Given the description of an element on the screen output the (x, y) to click on. 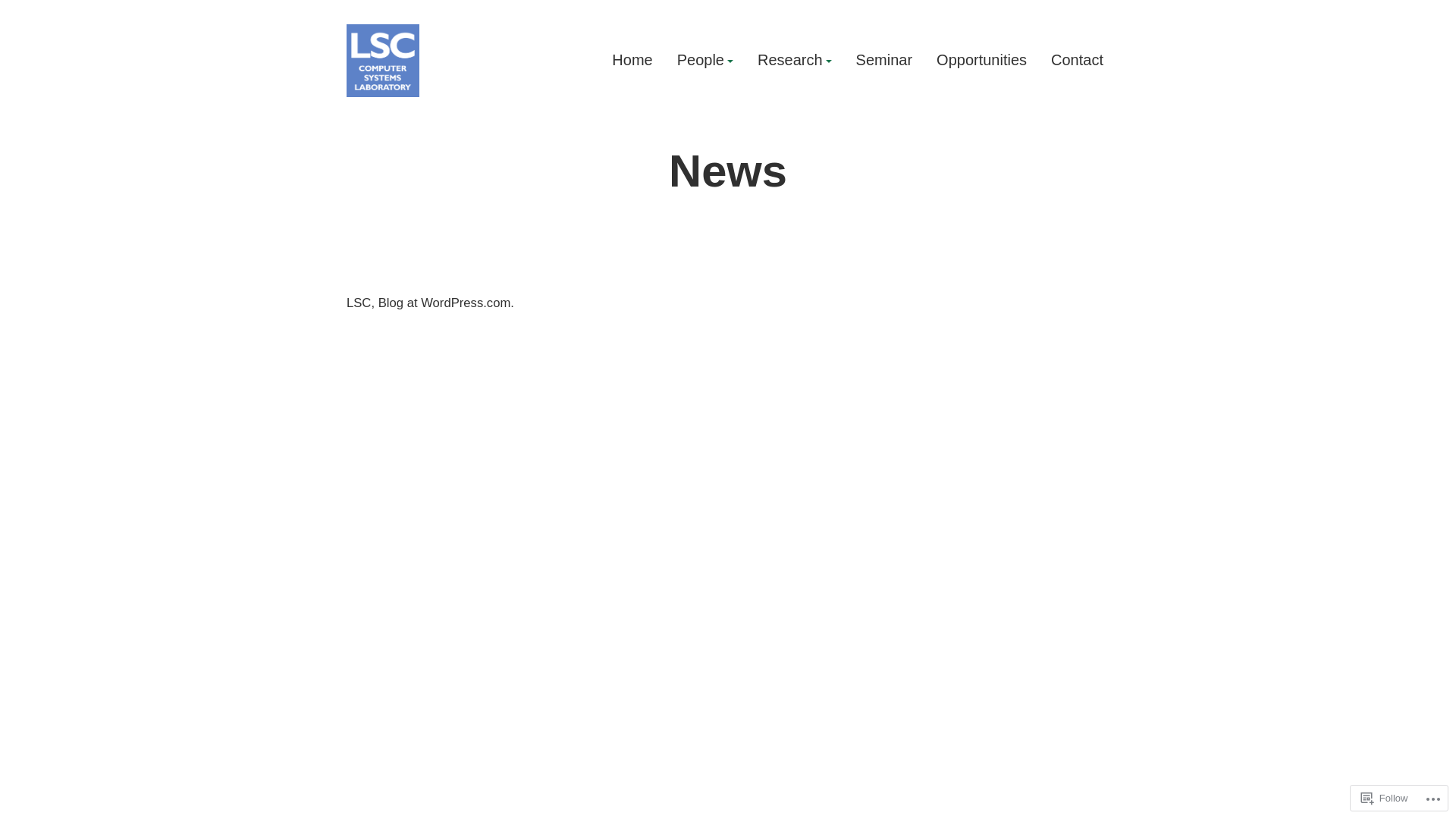
People Element type: text (705, 60)
Contact Element type: text (1077, 60)
Follow Element type: text (1384, 797)
Research Element type: text (794, 60)
LSC Element type: text (358, 302)
Seminar Element type: text (884, 60)
Blog at WordPress.com. Element type: text (446, 302)
LSC Element type: text (368, 113)
Opportunities Element type: text (981, 60)
Home Element type: text (631, 60)
